Given the description of an element on the screen output the (x, y) to click on. 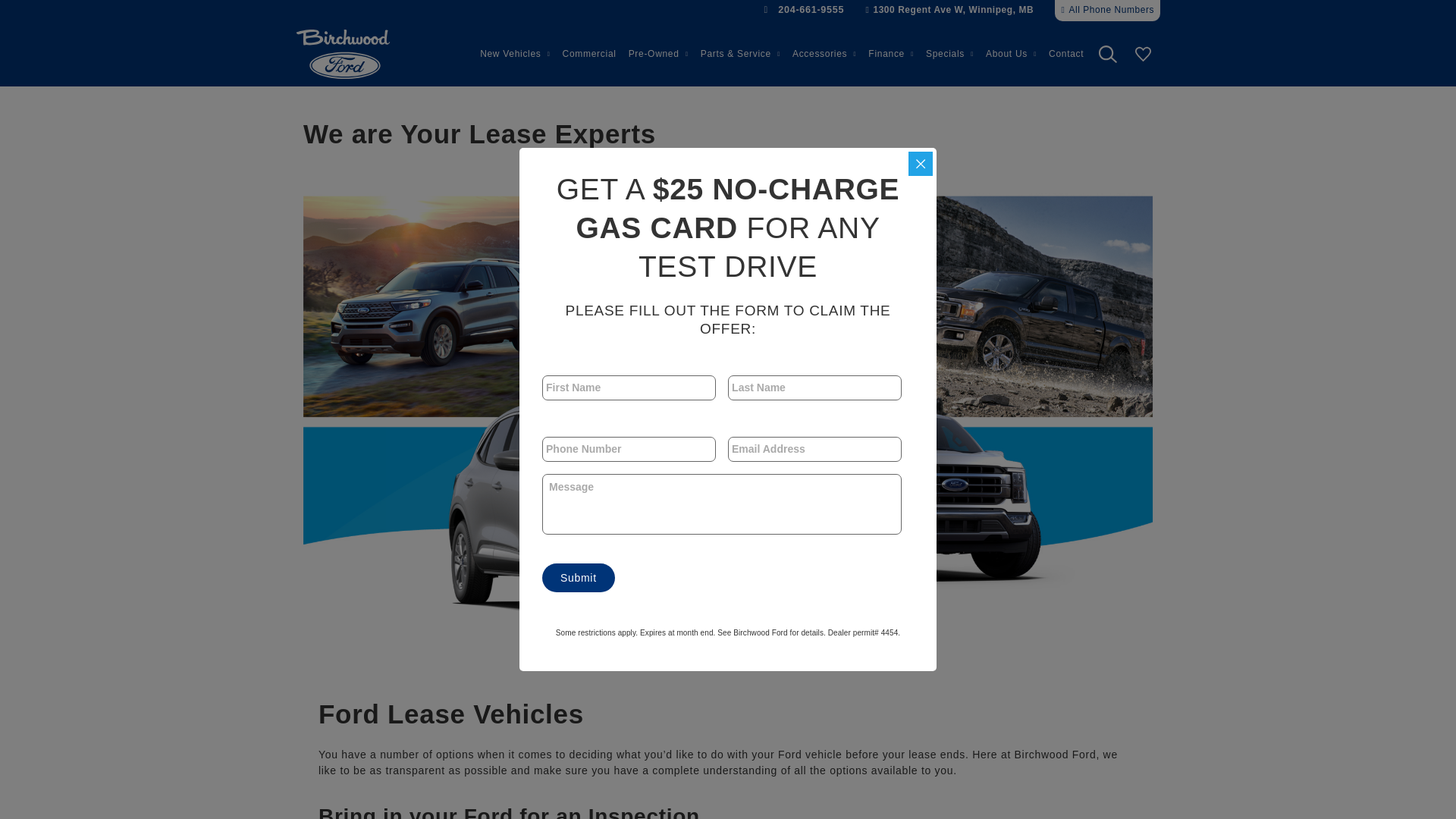
Commercial (589, 53)
All Phone Numbers (1107, 10)
1300 Regent Ave W, Winnipeg, MB (949, 11)
Submit (577, 577)
New Vehicles (515, 53)
204-661-9555 (803, 9)
Pre-Owned (658, 53)
